Given the description of an element on the screen output the (x, y) to click on. 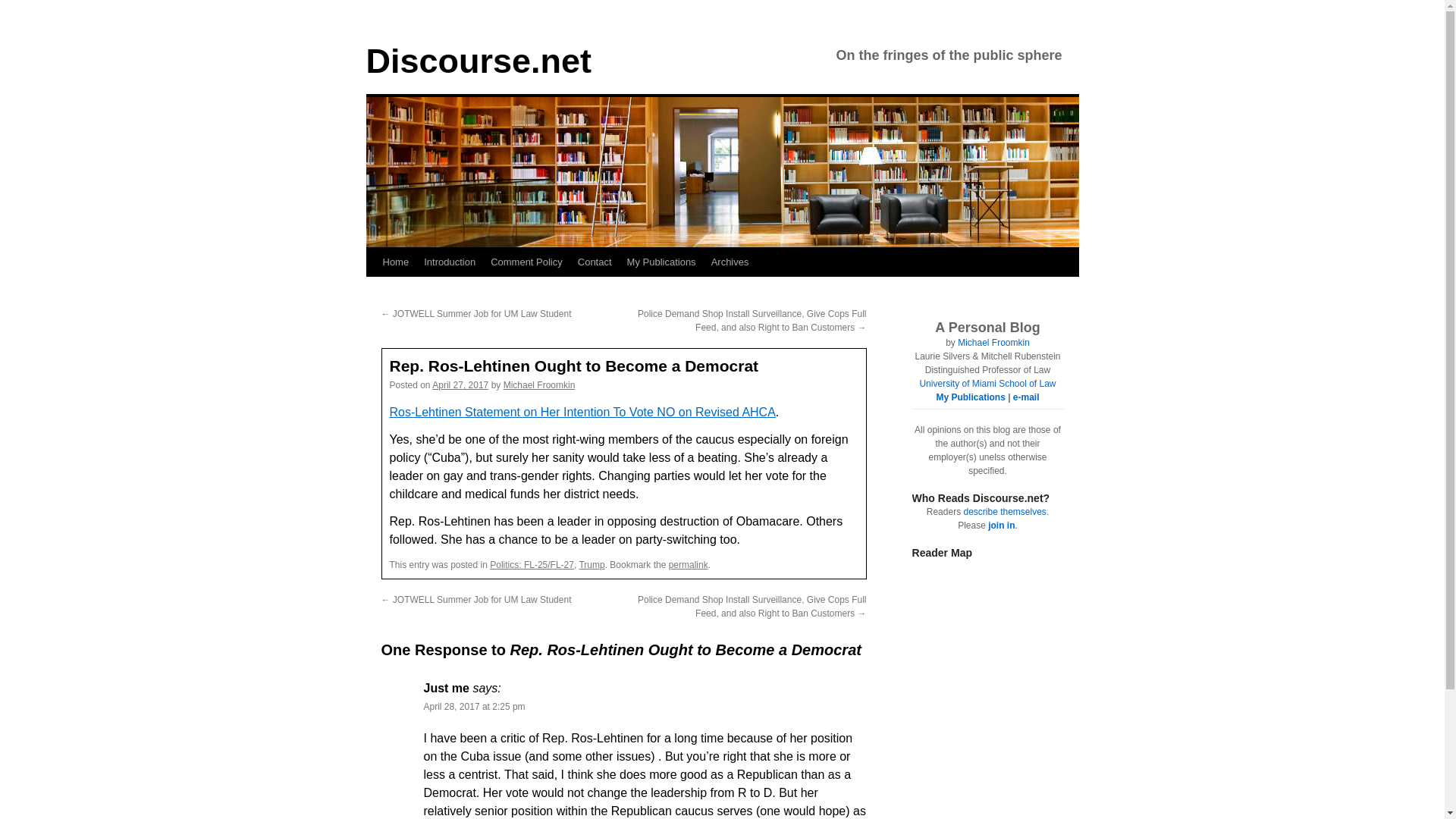
Where I work (986, 383)
6:10 pm (459, 385)
Home (395, 262)
instructions on how to deduce my email (1026, 397)
Contact (595, 262)
My Publications (661, 262)
Most are available online (970, 397)
View all posts by Michael Froomkin (539, 385)
April 28, 2017 at 2:25 pm (473, 706)
Introduction (449, 262)
Discourse.net (478, 60)
Michael Froomkin (993, 342)
describe themselves (1003, 511)
April 27, 2017 (459, 385)
